Given the description of an element on the screen output the (x, y) to click on. 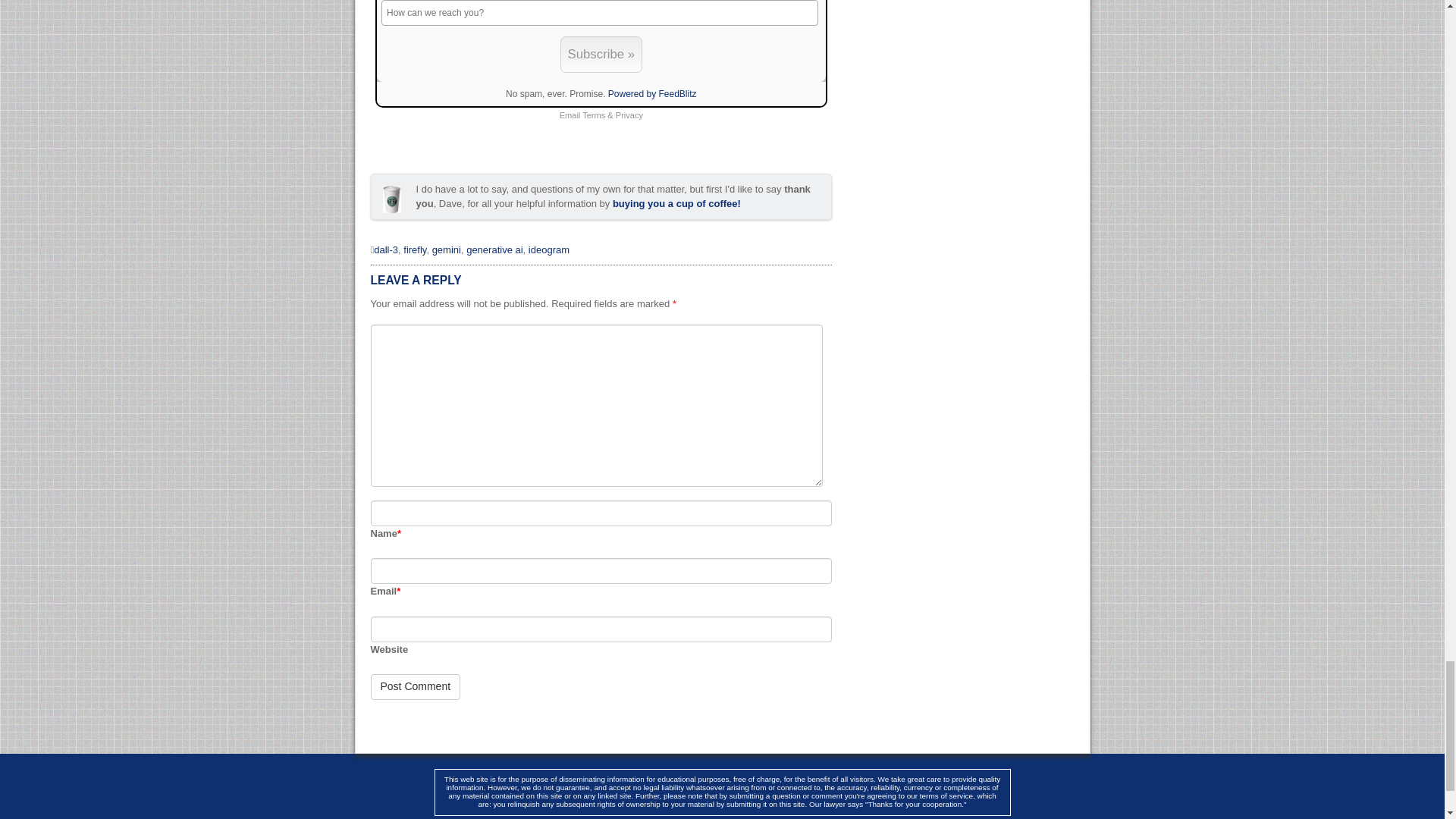
Terms (593, 114)
How can we reach you? (599, 12)
Powered by FeedBlitz (652, 93)
Privacy (629, 114)
Email subscriptions terms of service (593, 114)
Post Comment (414, 687)
Email subscriptions privacy policy (629, 114)
click to join (601, 54)
